Given the description of an element on the screen output the (x, y) to click on. 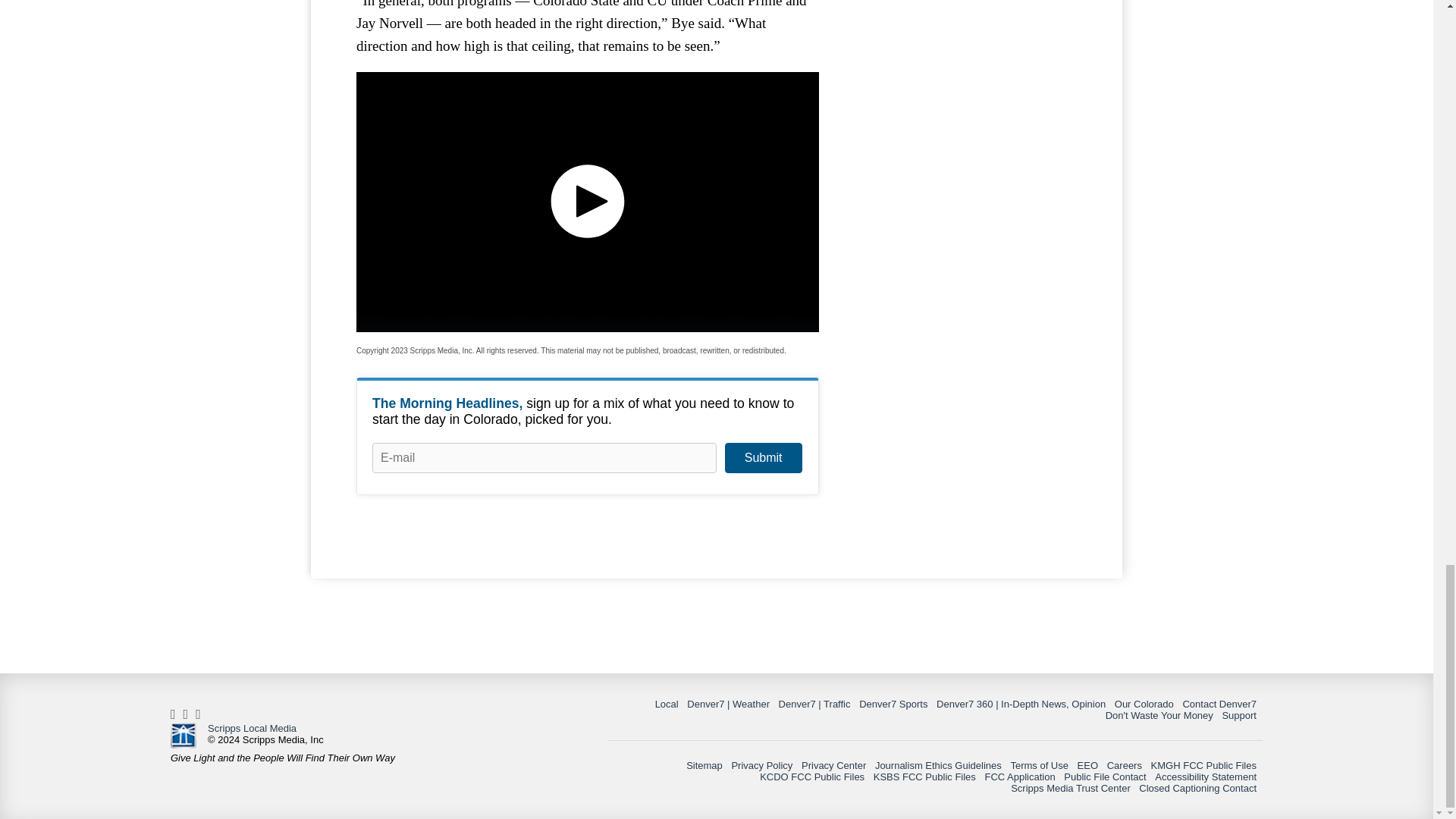
Submit (763, 458)
